Given the description of an element on the screen output the (x, y) to click on. 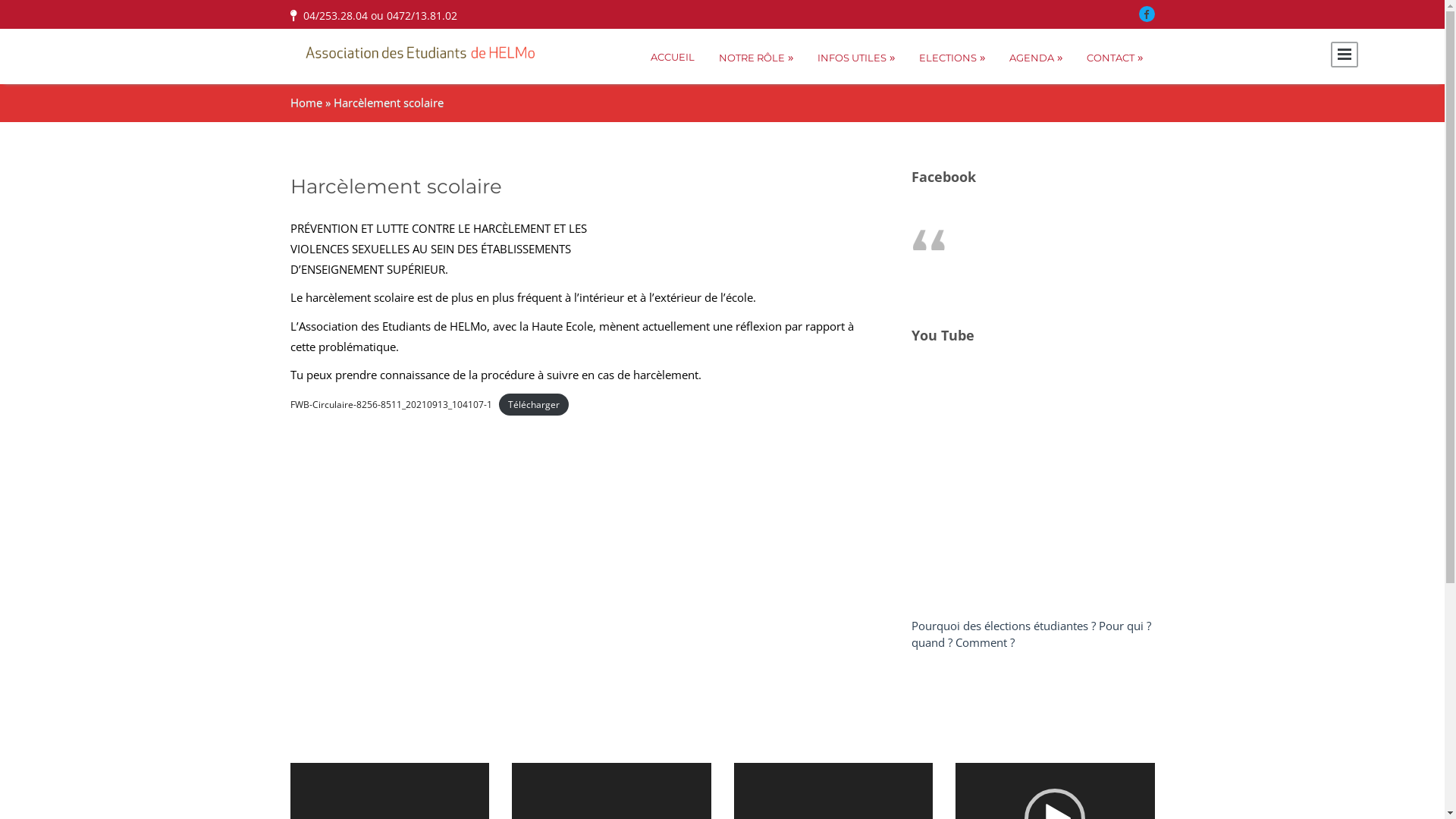
ACCUEIL Element type: text (672, 55)
FWB-Circulaire-8256-8511_20210913_104107-1 Element type: text (390, 404)
FaceBook Element type: hover (1146, 13)
https://www.facebook.com/aeh.asbl Element type: text (1052, 233)
Home Element type: text (305, 101)
